Given the description of an element on the screen output the (x, y) to click on. 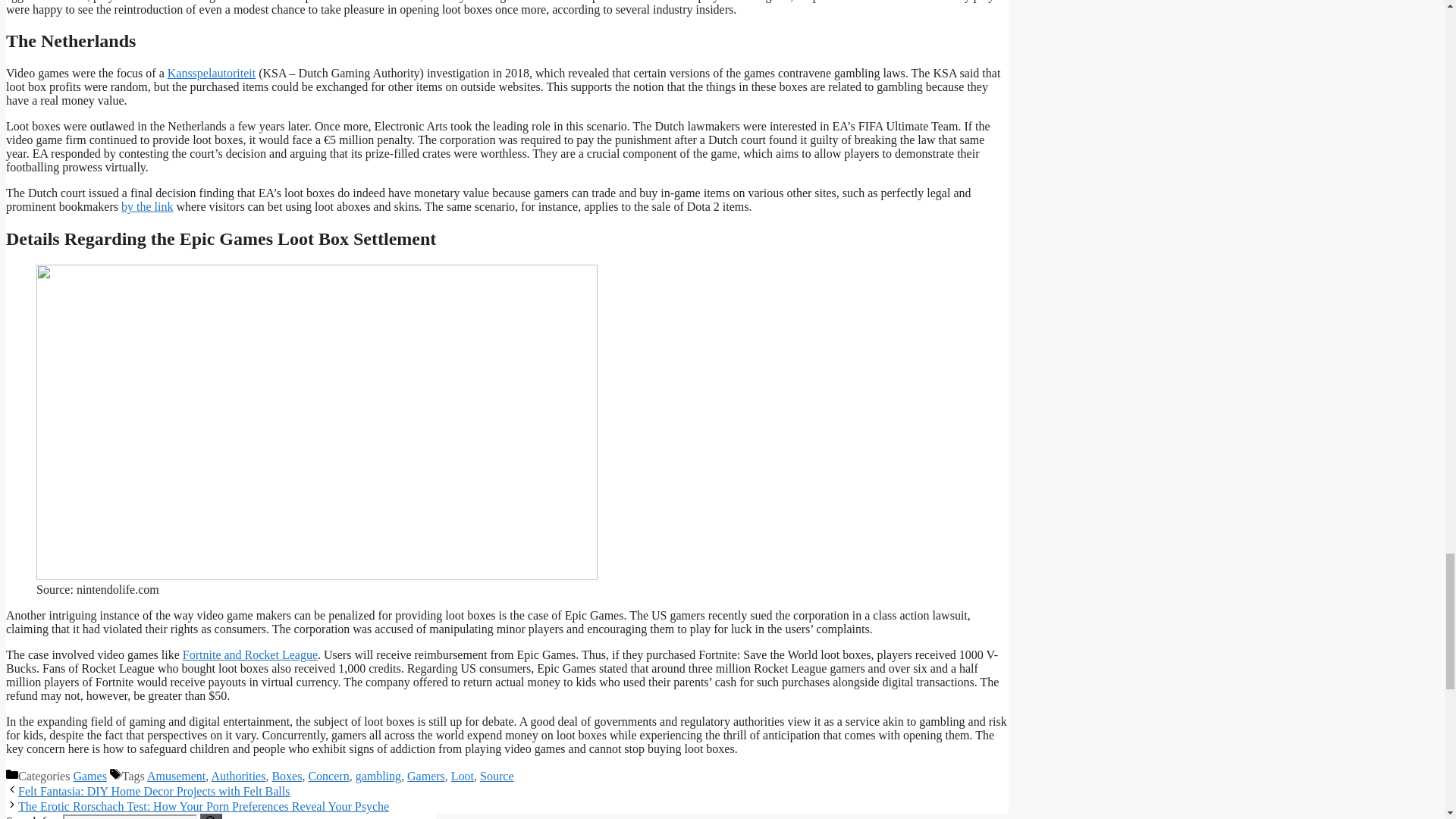
Gamers (426, 775)
Concern (328, 775)
Felt Fantasia: DIY Home Decor Projects with Felt Balls (153, 790)
Boxes (285, 775)
Kansspelautoriteit (211, 72)
Loot (462, 775)
gambling (378, 775)
by the link (146, 205)
Search for: (129, 816)
Fortnite and Rocket League (250, 654)
Amusement (176, 775)
Source (496, 775)
Games (89, 775)
Authorities (237, 775)
